Given the description of an element on the screen output the (x, y) to click on. 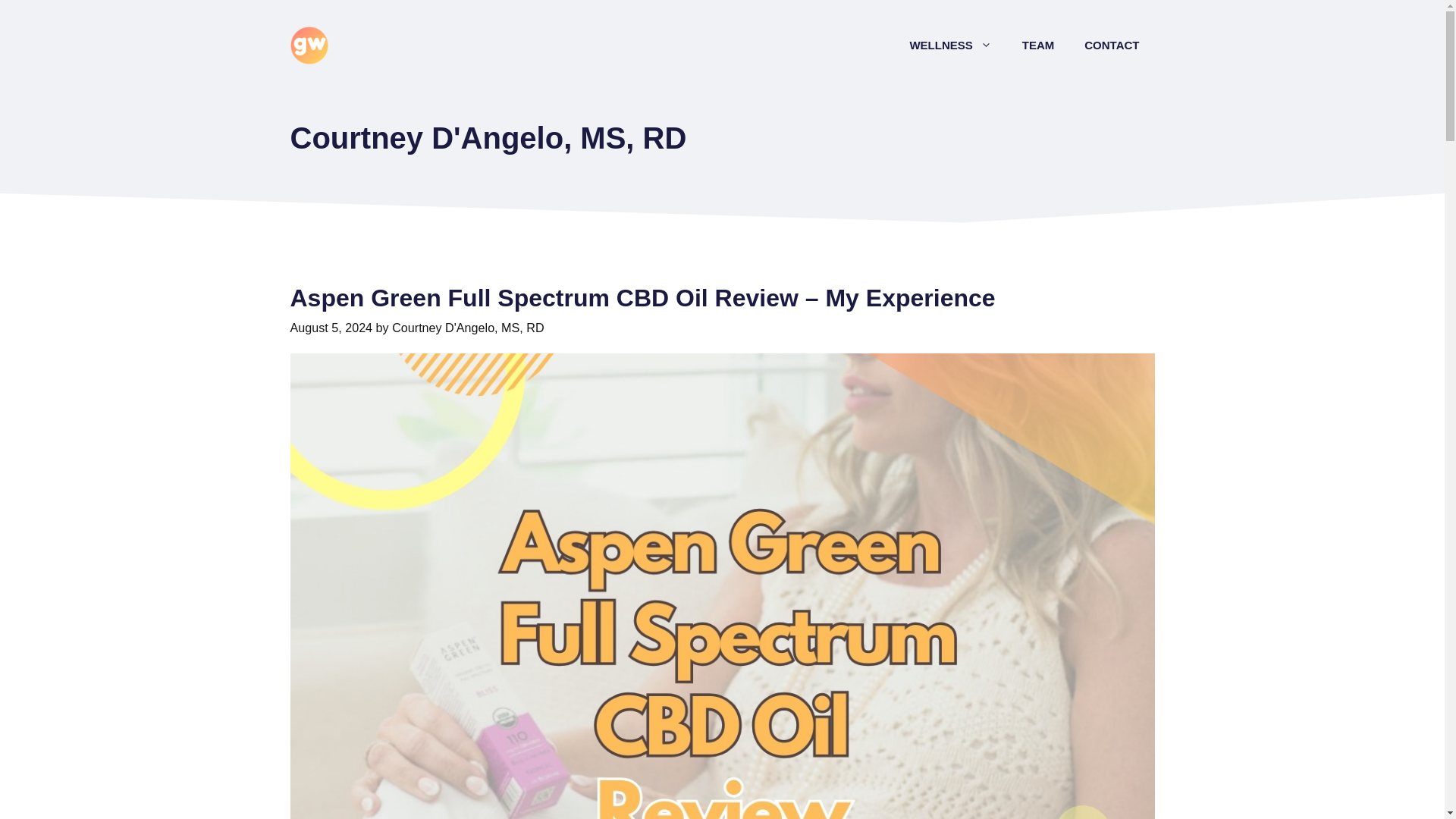
TEAM (1038, 44)
Courtney D'Angelo, MS, RD (467, 327)
WELLNESS (949, 44)
CONTACT (1111, 44)
View all posts by Courtney D'Angelo, MS, RD (467, 327)
